Given the description of an element on the screen output the (x, y) to click on. 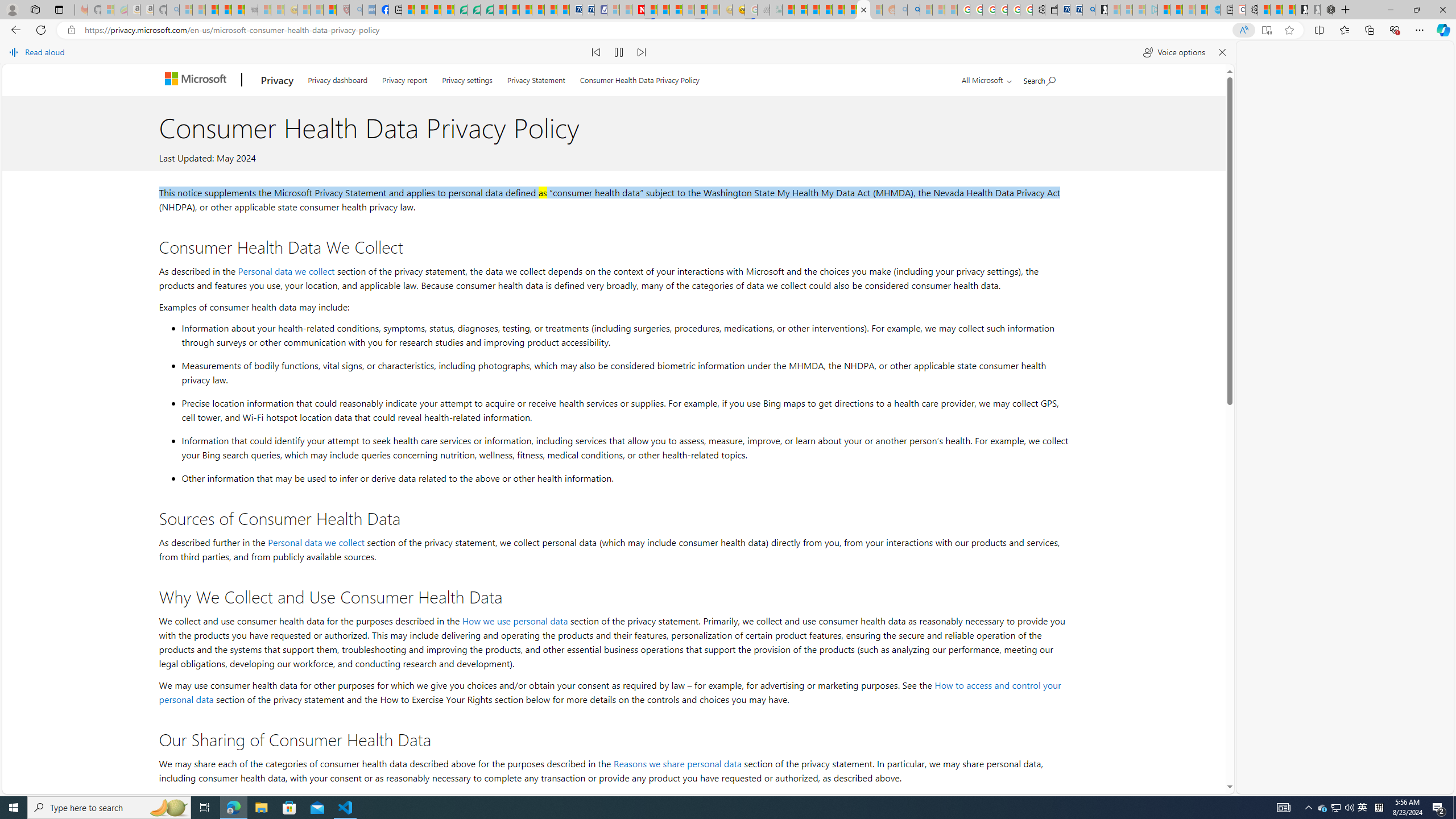
World - MSN (434, 9)
Close read aloud (1221, 52)
Microsoft Start - Sleeping (1188, 9)
Privacy report (404, 77)
Consumer Health Data Privacy Policy (864, 9)
Voice options (1174, 52)
